Given the description of an element on the screen output the (x, y) to click on. 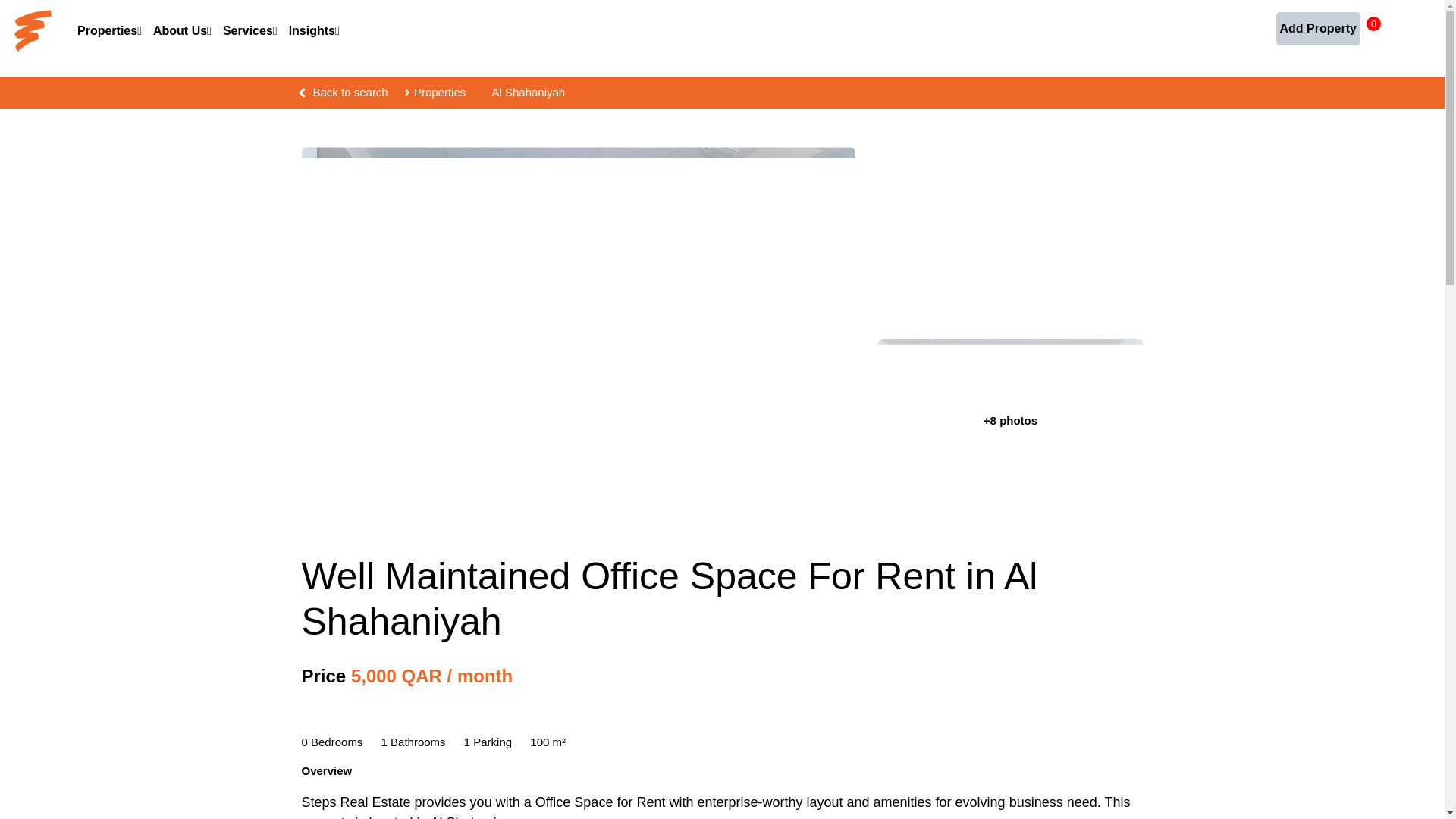
Well Maintained Office Space (1009, 235)
Properties (439, 91)
Back to search (350, 91)
Well Maintained Office Space (1009, 427)
Al Shahaniyah (528, 91)
Add Property (1317, 28)
